Given the description of an element on the screen output the (x, y) to click on. 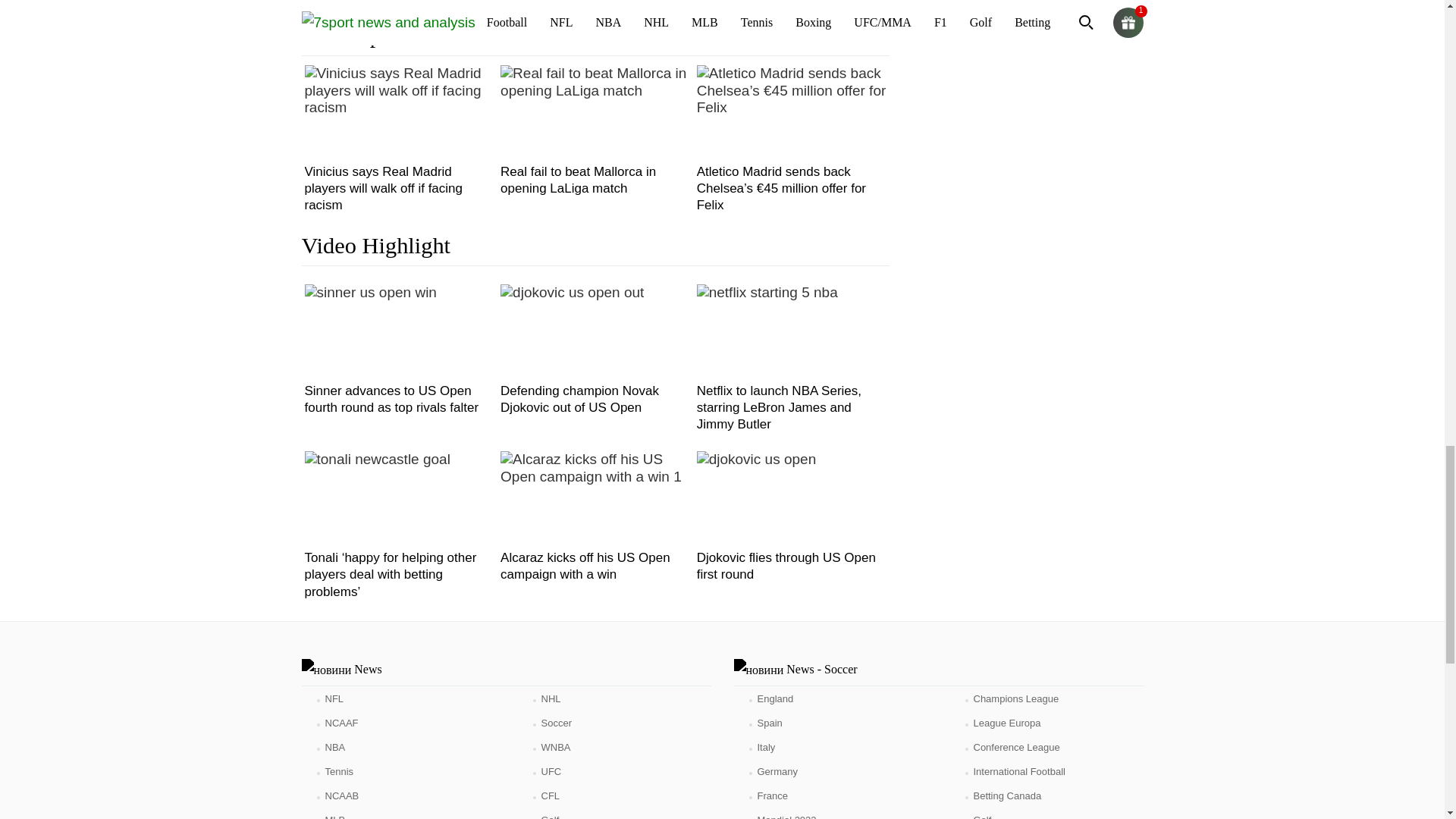
Real fail to beat Mallorca in opening LaLiga match 8 (595, 114)
Defending champion Novak Djokovic out of US Open 11 (571, 333)
Alcaraz kicks off his US Open campaign with a win 14 (595, 500)
Djokovic flies through US Open first round 15 (756, 500)
